Given the description of an element on the screen output the (x, y) to click on. 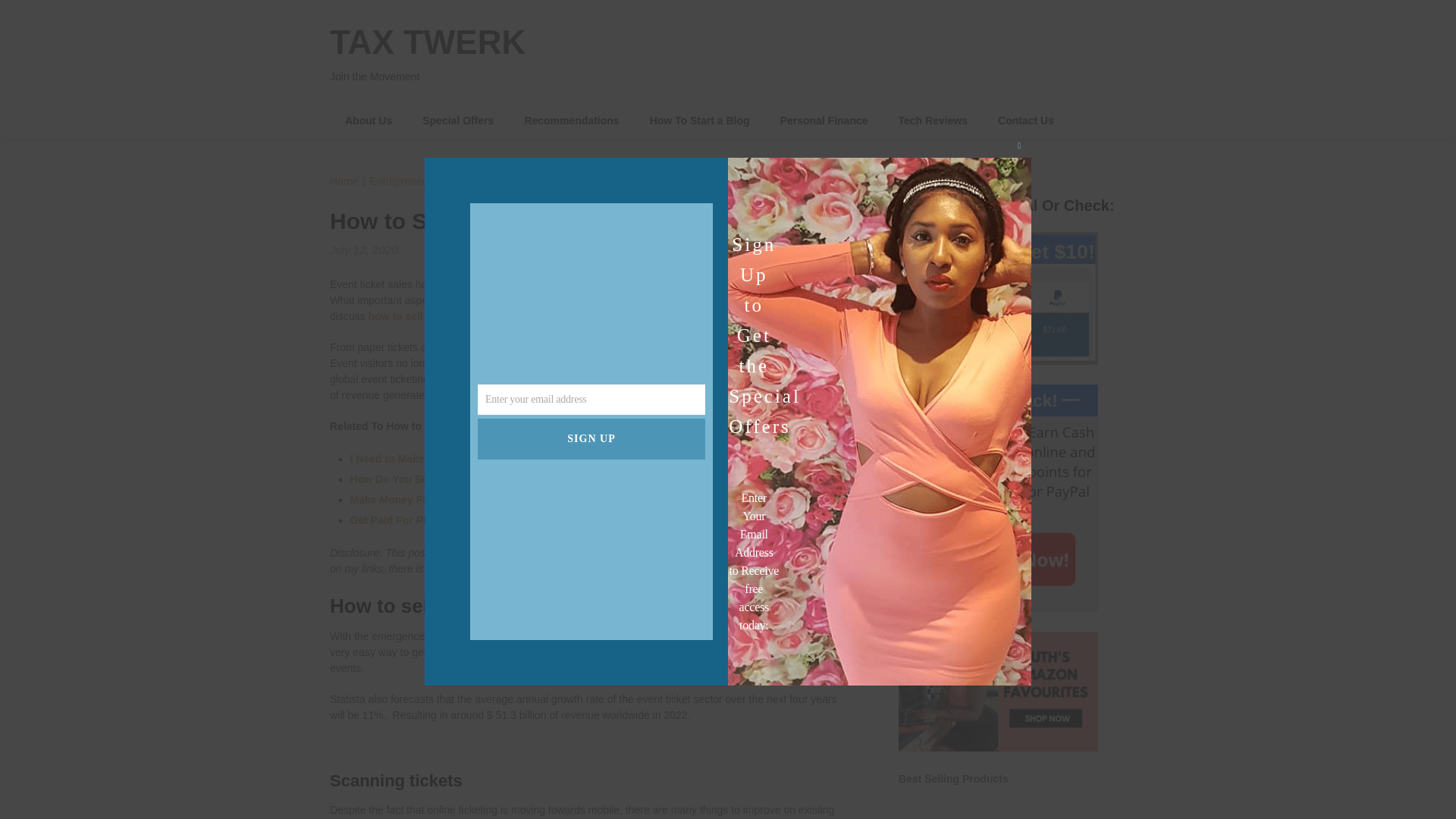
Entrepreneur (399, 181)
About Us (368, 121)
Special Offers (457, 121)
Contact Us (1025, 121)
Make Money Fast From Home (425, 499)
I Need to Make Money Fast Online for Free (457, 458)
Best Selling Products (953, 778)
Recommendations (570, 121)
How To Start a Blog (699, 121)
Personal Finance (824, 121)
How To Start a Blog (699, 121)
how to sell physical tickets online (452, 316)
Get Paid For Photos Of Yourself (431, 520)
Recommendations (570, 121)
